Given the description of an element on the screen output the (x, y) to click on. 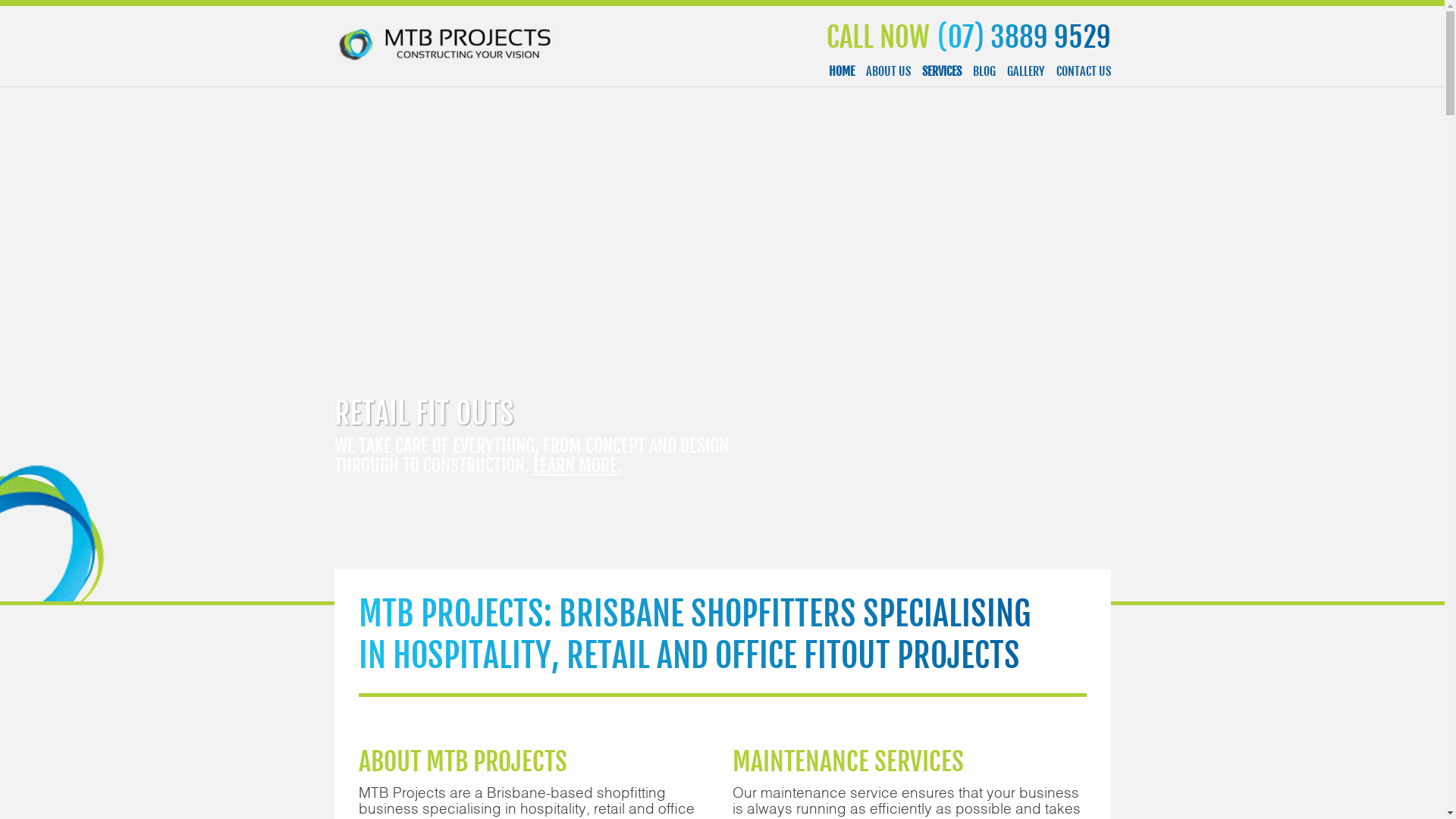
HOME Element type: text (840, 71)
LEARN MORE. Element type: text (576, 465)
GALLERY Element type: text (1025, 71)
CONTACT US Element type: text (1082, 71)
(07) 3889 9529 Element type: text (968, 36)
ABOUT US Element type: text (888, 71)
SERVICES Element type: text (941, 71)
BLOG Element type: text (983, 71)
